Given the description of an element on the screen output the (x, y) to click on. 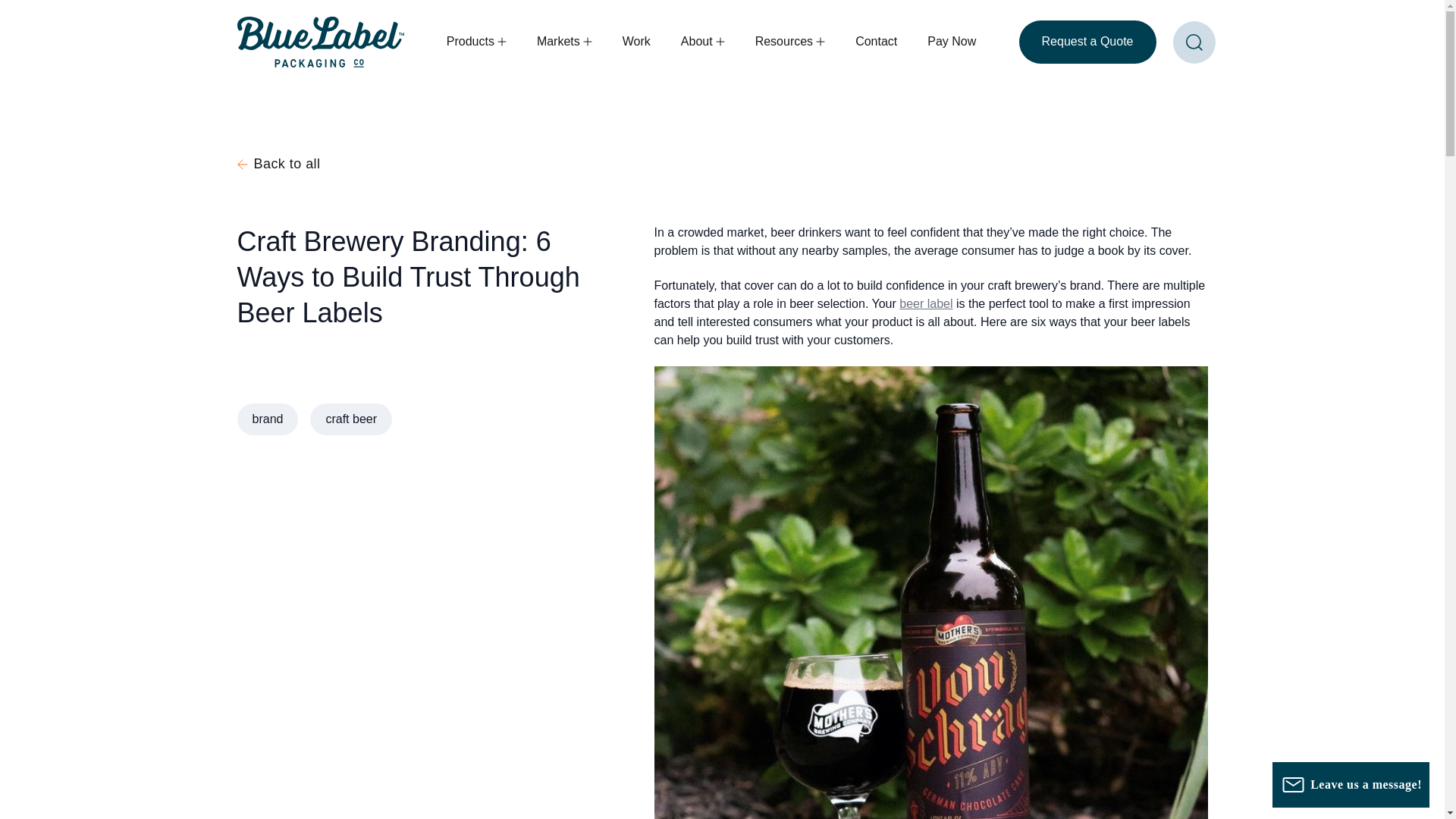
Open Submenu (585, 40)
Blue Label Packaging (319, 41)
Open Submenu (500, 40)
Markets (558, 41)
Products (470, 41)
